Given the description of an element on the screen output the (x, y) to click on. 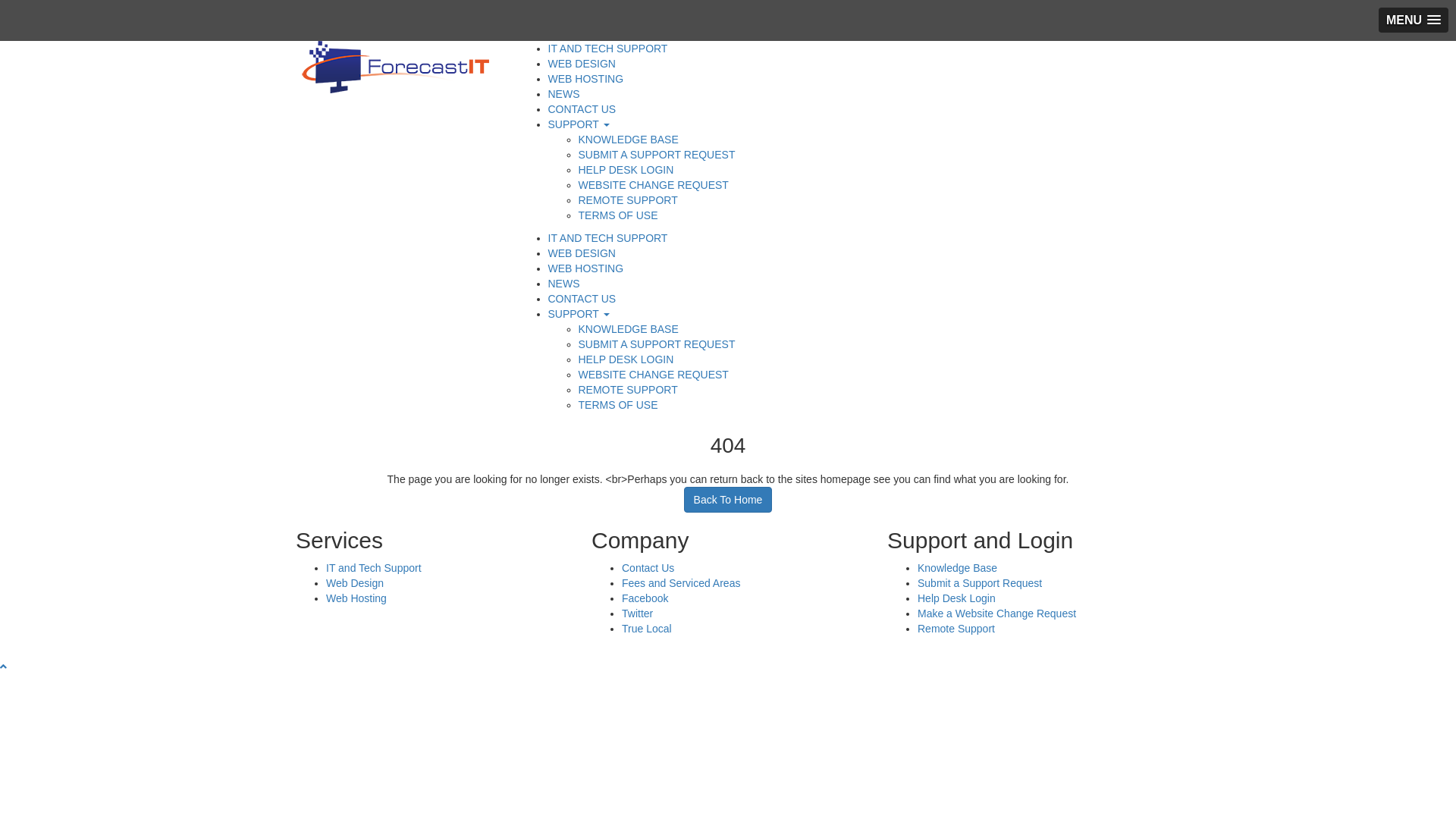
Knowledge Base Element type: text (957, 567)
Make a Website Change Request Element type: text (996, 613)
TERMS OF USE Element type: text (617, 215)
REMOTE SUPPORT Element type: text (627, 200)
NEWS Element type: text (563, 283)
IT AND TECH SUPPORT Element type: text (607, 48)
Fees and Serviced Areas Element type: text (680, 583)
Contact Us Element type: text (647, 567)
WEB DESIGN Element type: text (581, 63)
WEB HOSTING Element type: text (585, 268)
HELP DESK LOGIN Element type: text (625, 169)
WEB HOSTING Element type: text (585, 78)
IT AND TECH SUPPORT Element type: text (607, 238)
IT and Tech Support Element type: text (373, 567)
REMOTE SUPPORT Element type: text (627, 389)
Back To Home Element type: text (728, 499)
TERMS OF USE Element type: text (617, 404)
CONTACT US Element type: text (581, 298)
SUBMIT A SUPPORT REQUEST Element type: text (655, 344)
SUBMIT A SUPPORT REQUEST Element type: text (655, 154)
Remote Support Element type: text (955, 628)
MENU Element type: text (1413, 19)
Web Design Element type: text (354, 583)
Facebook Element type: text (644, 598)
WEBSITE CHANGE REQUEST Element type: text (652, 374)
True Local Element type: text (646, 628)
KNOWLEDGE BASE Element type: text (627, 139)
Submit a Support Request Element type: text (979, 583)
NEWS Element type: text (563, 93)
SUPPORT Element type: text (577, 313)
HELP DESK LOGIN Element type: text (625, 359)
Web Hosting Element type: text (356, 598)
WEBSITE CHANGE REQUEST Element type: text (652, 184)
Help Desk Login Element type: text (956, 598)
Twitter Element type: text (636, 613)
KNOWLEDGE BASE Element type: text (627, 329)
CONTACT US Element type: text (581, 109)
SUPPORT Element type: text (577, 124)
WEB DESIGN Element type: text (581, 253)
